Given the description of an element on the screen output the (x, y) to click on. 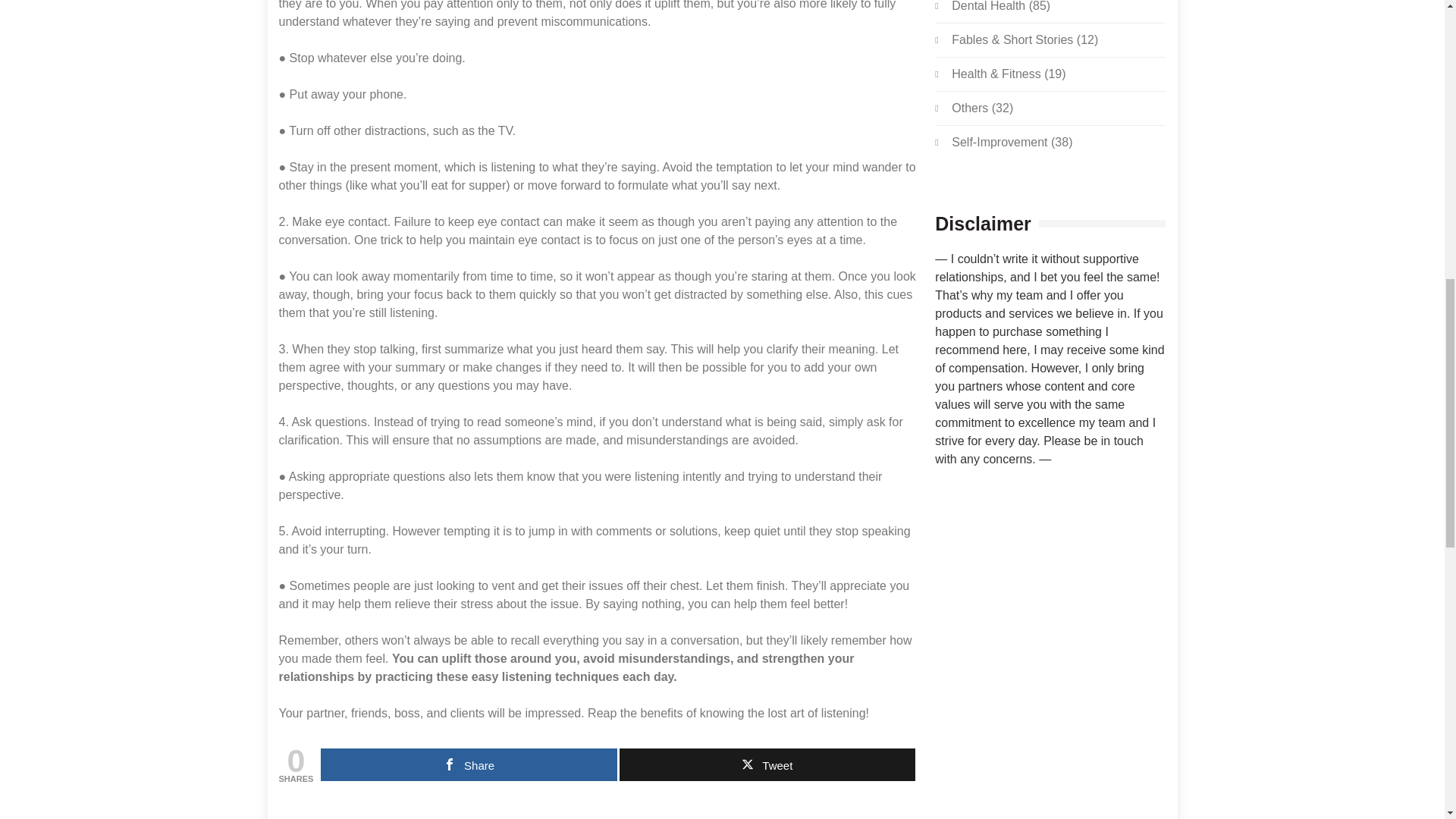
Tweet (767, 764)
Share (467, 764)
Dental Health (988, 6)
Others (970, 107)
Self-Improvement (999, 141)
